Given the description of an element on the screen output the (x, y) to click on. 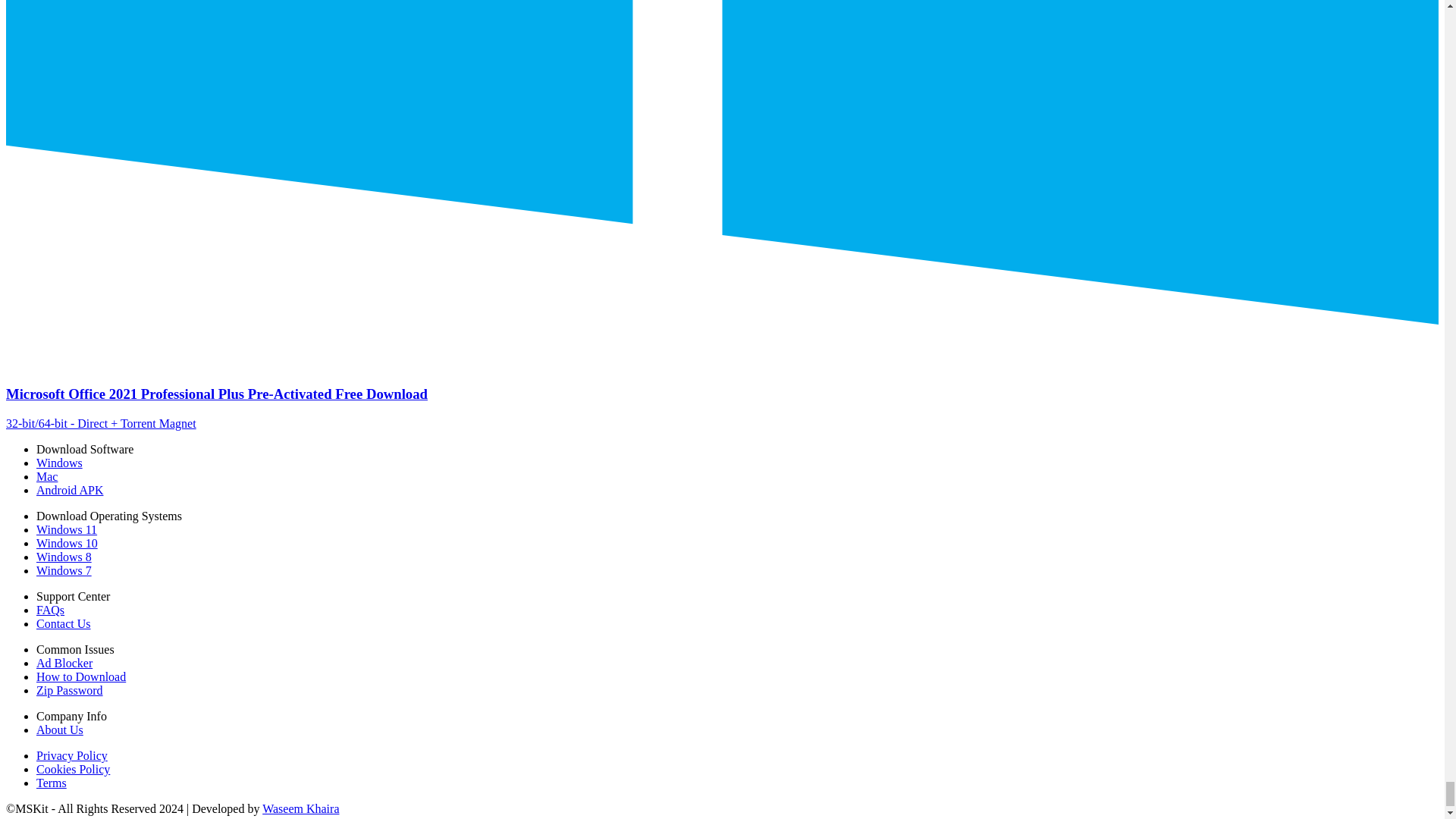
Theme Developer (300, 808)
